Given the description of an element on the screen output the (x, y) to click on. 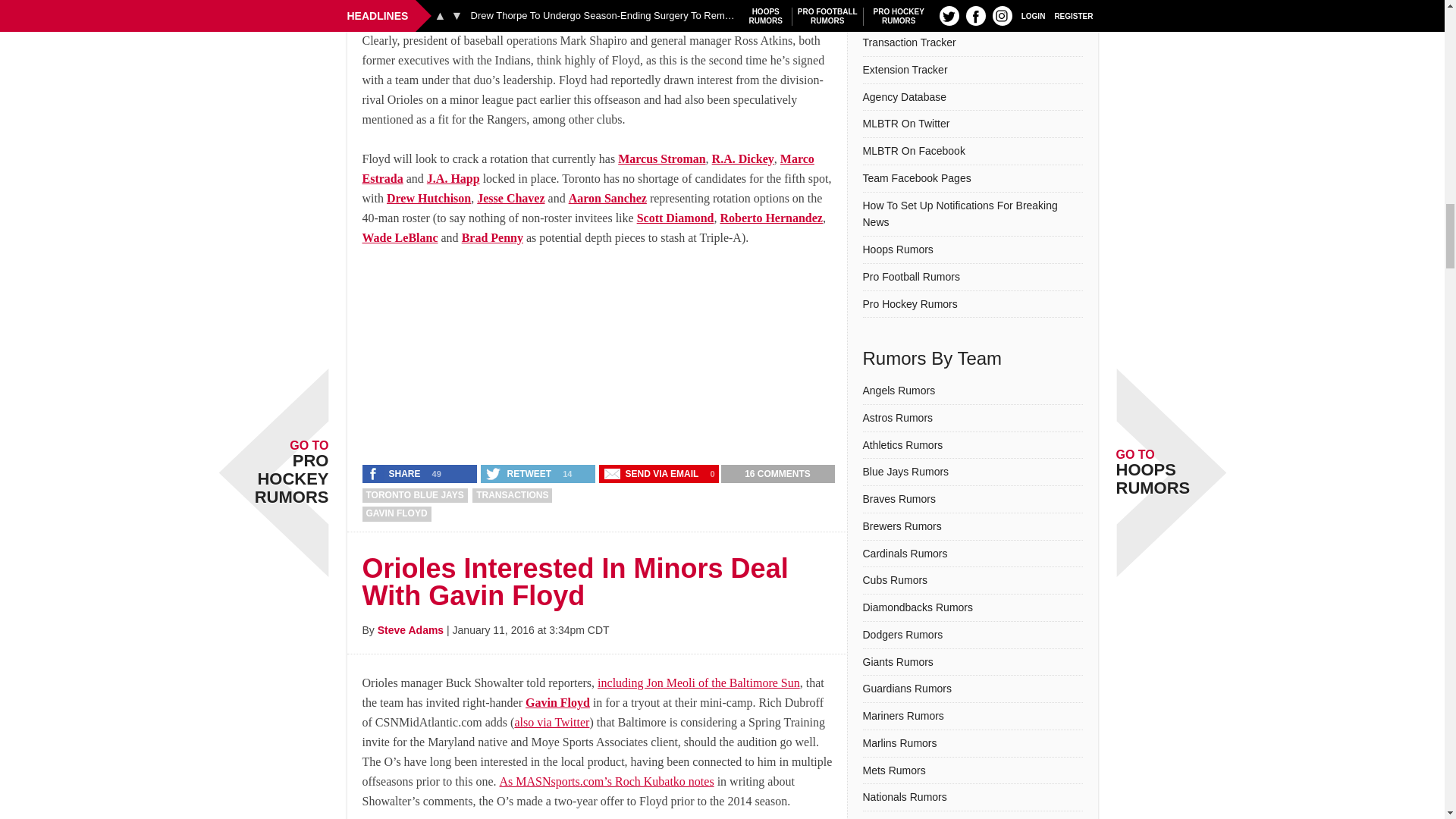
Send Blue Jays Sign Gavin Floyd with an email (652, 473)
Share 'Blue Jays Sign Gavin Floyd' on Facebook (395, 473)
Retweet 'Blue Jays Sign Gavin Floyd' on Twitter (519, 473)
